Given the description of an element on the screen output the (x, y) to click on. 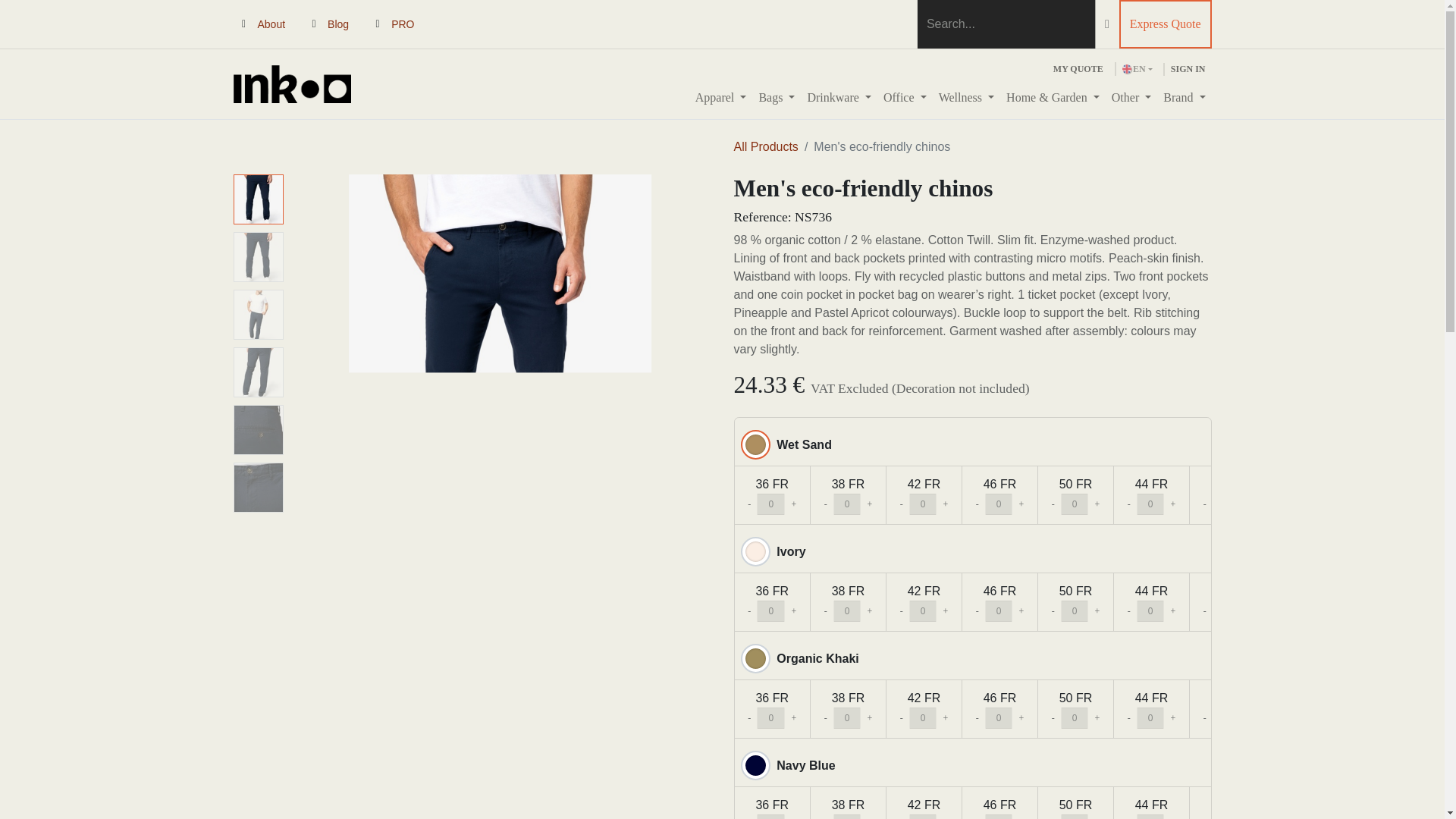
0 (1226, 610)
0 (846, 504)
Apparel (720, 97)
0 (922, 504)
0 (1075, 610)
0 (999, 610)
0 (770, 610)
Blog (338, 24)
Office (905, 97)
EN (1137, 68)
